Given the description of an element on the screen output the (x, y) to click on. 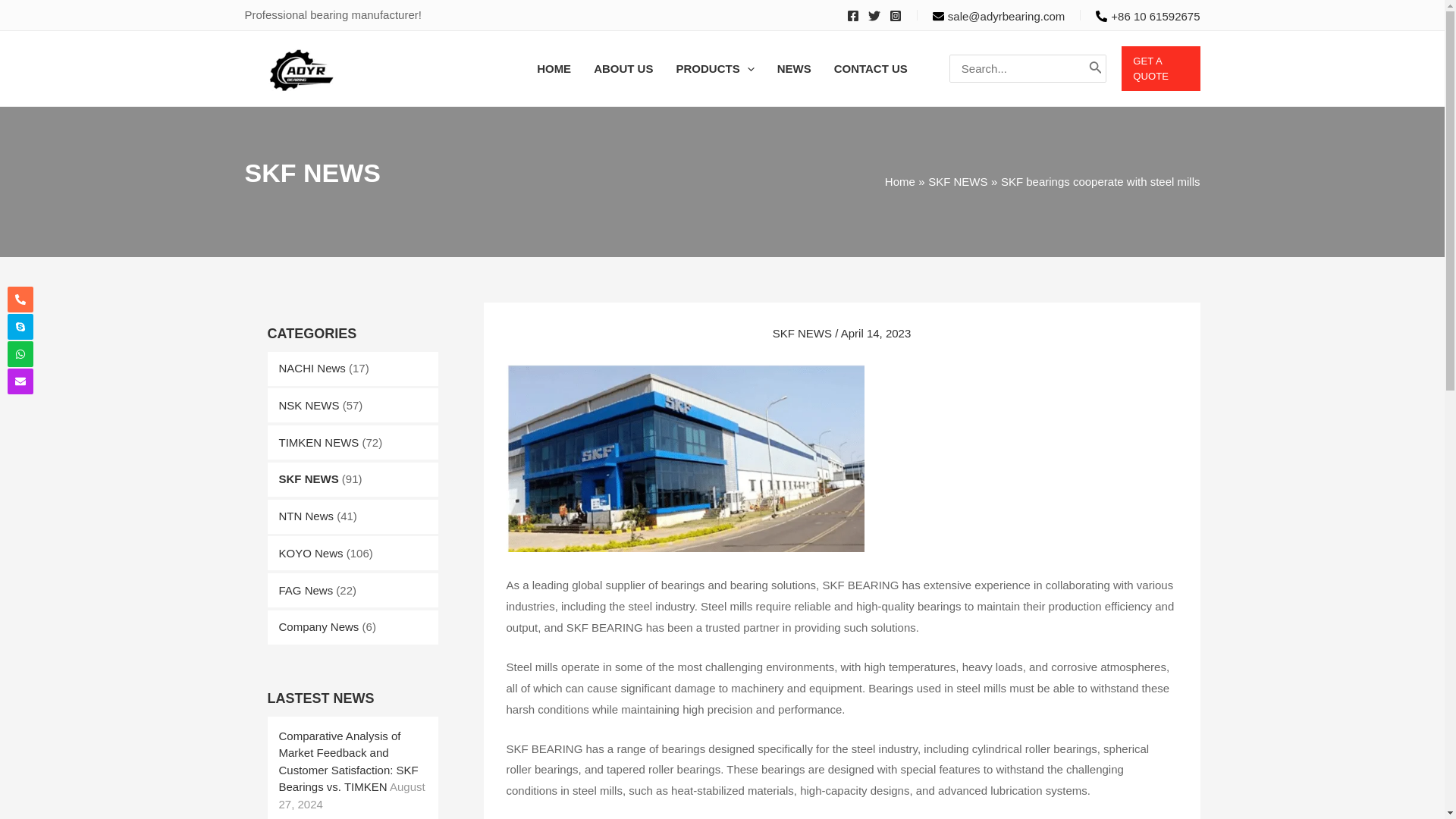
PRODUCTS (714, 69)
CONTACT US (870, 69)
GET A QUOTE (1160, 67)
ABOUT US (622, 69)
